Given the description of an element on the screen output the (x, y) to click on. 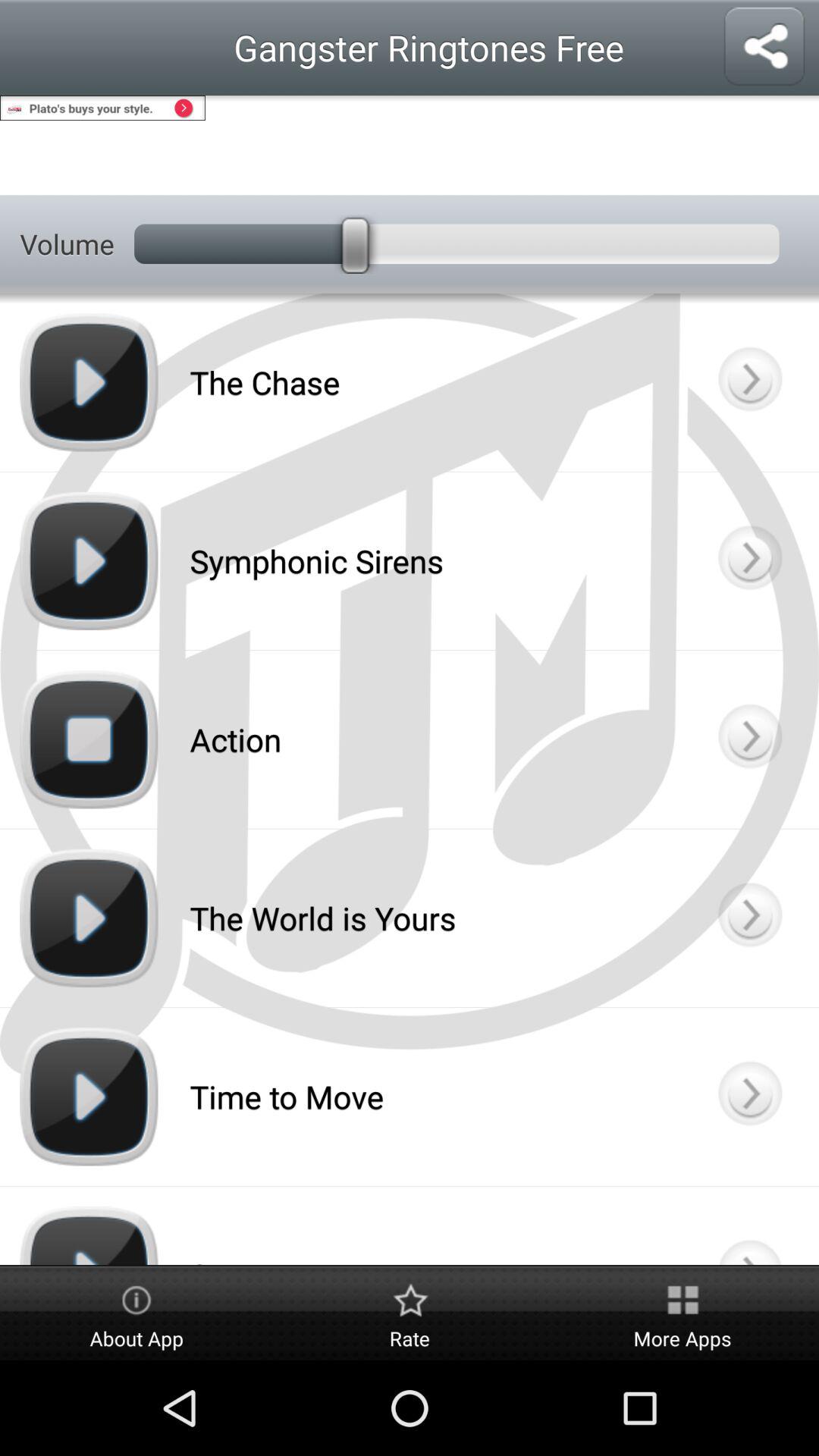
share the ringtones (764, 47)
